Given the description of an element on the screen output the (x, y) to click on. 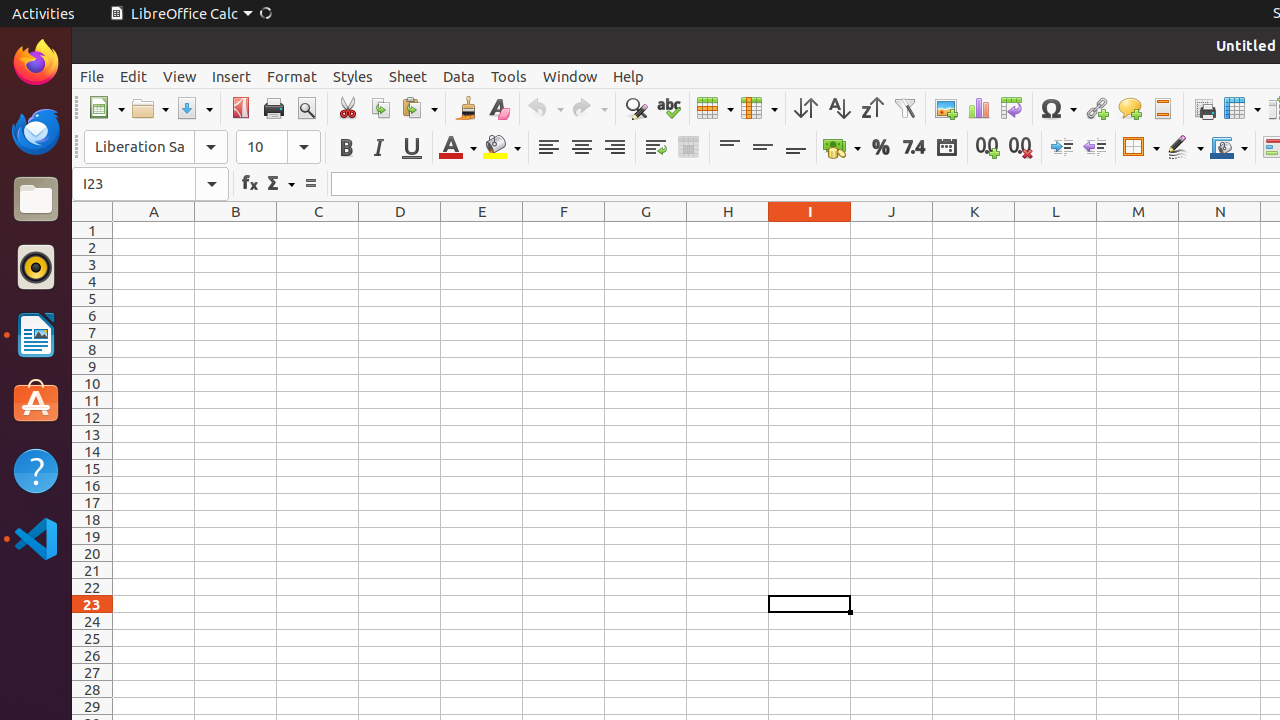
Trash Element type: label (133, 191)
N1 Element type: table-cell (1220, 230)
Underline Element type: push-button (411, 147)
